Given the description of an element on the screen output the (x, y) to click on. 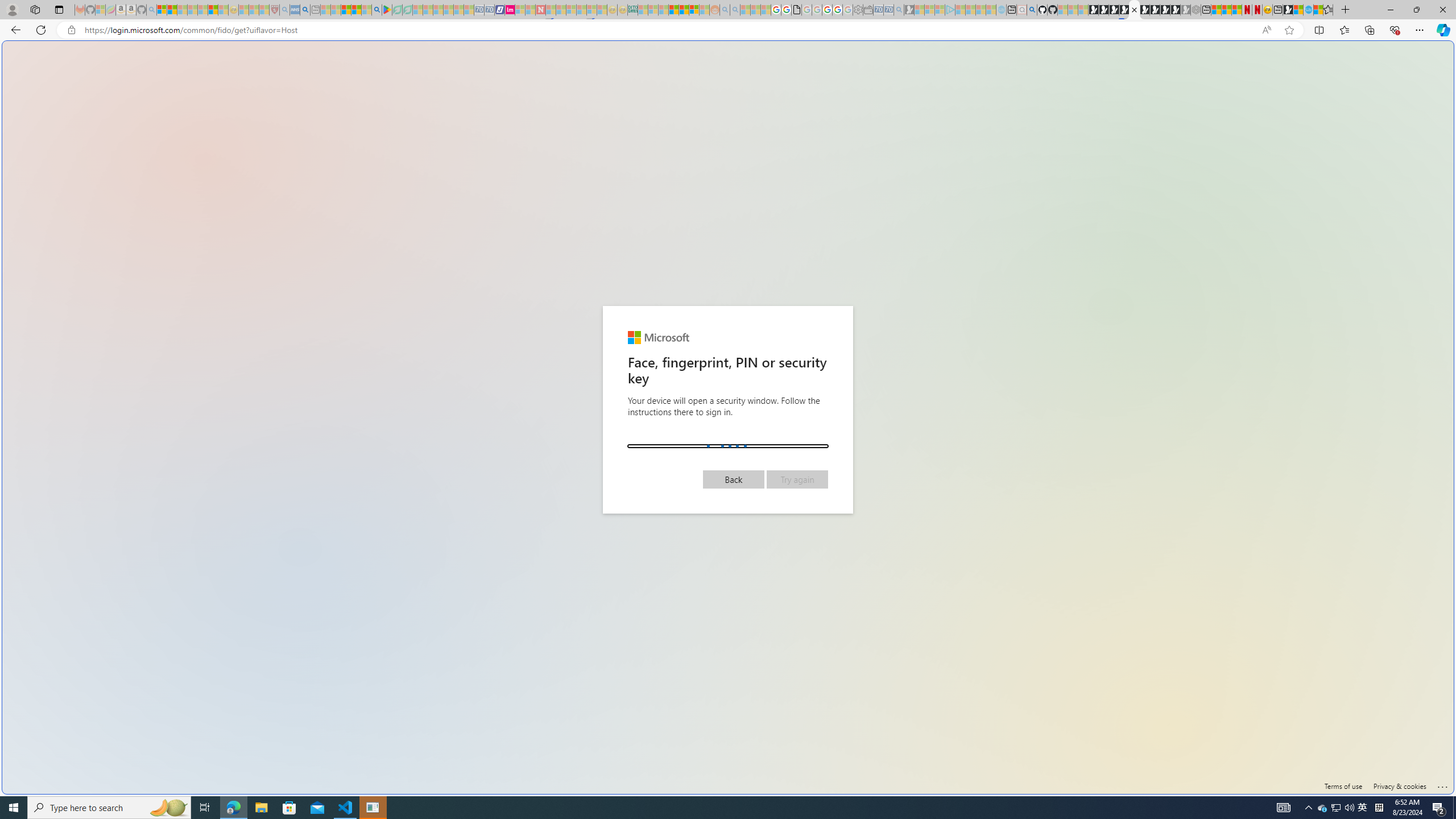
Home | Sky Blue Bikes - Sky Blue Bikes (1307, 9)
Close split screen (1208, 57)
Kinda Frugal - MSN (684, 9)
The Weather Channel - MSN - Sleeping (181, 9)
Home | Sky Blue Bikes - Sky Blue Bikes - Sleeping (1001, 9)
Jobs - lastminute.com Investor Portal (509, 9)
Microsoft Start Gaming - Sleeping (908, 9)
